Given the description of an element on the screen output the (x, y) to click on. 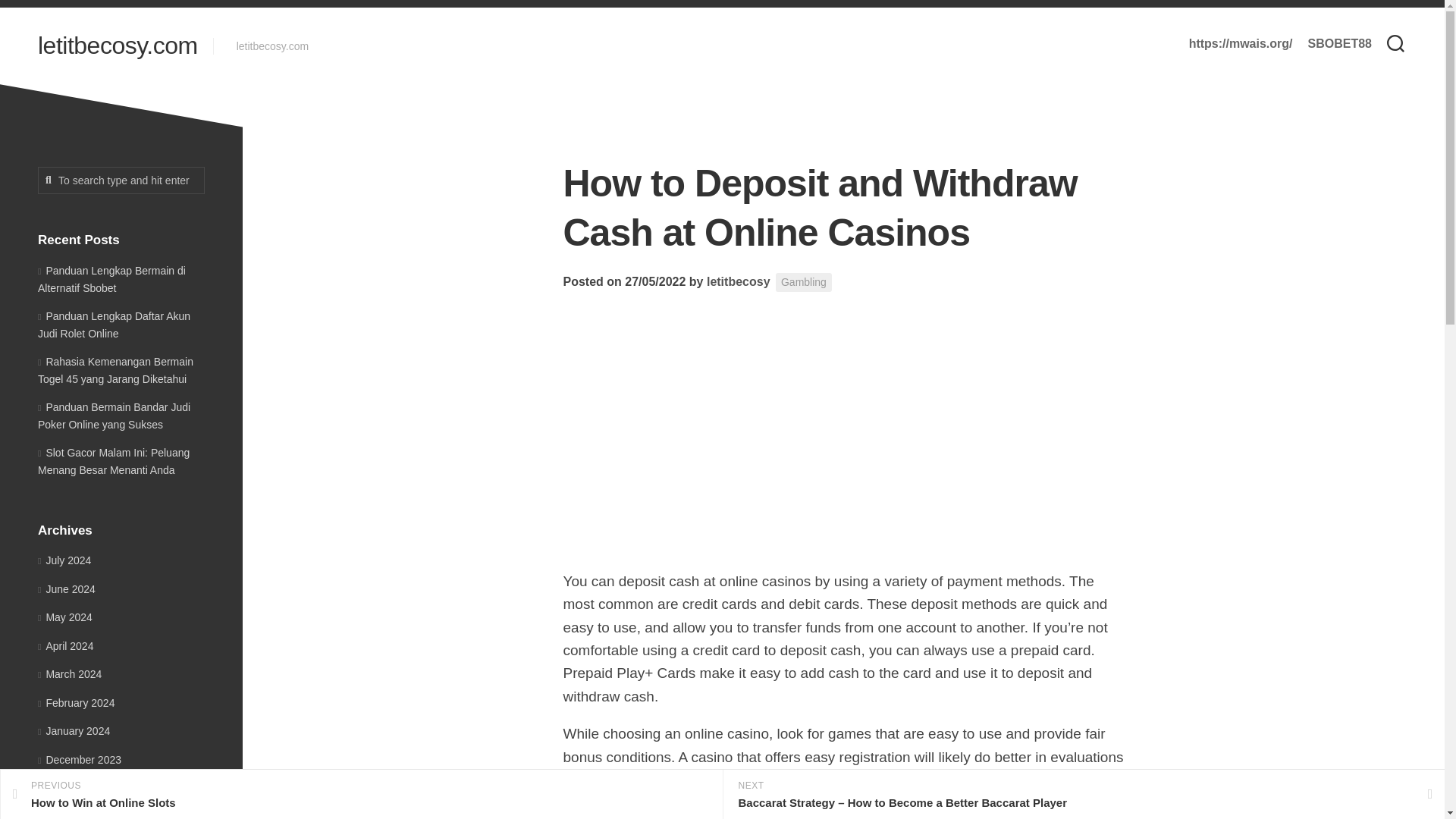
Slot Gacor Malam Ini: Peluang Menang Besar Menanti Anda (113, 460)
October 2023 (73, 814)
letitbecosy.com (117, 44)
Posts by letitbecosy (738, 281)
To search type and hit enter (121, 180)
letitbecosy (738, 281)
May 2024 (65, 616)
SBOBET88 (1339, 43)
Panduan Lengkap Daftar Akun Judi Rolet Online (113, 324)
July 2024 (63, 560)
Panduan Lengkap Bermain di Alternatif Sbobet (111, 278)
Panduan Bermain Bandar Judi Poker Online yang Sukses (113, 415)
February 2024 (76, 702)
Rahasia Kemenangan Bermain Togel 45 yang Jarang Diketahui (115, 369)
